Given the description of an element on the screen output the (x, y) to click on. 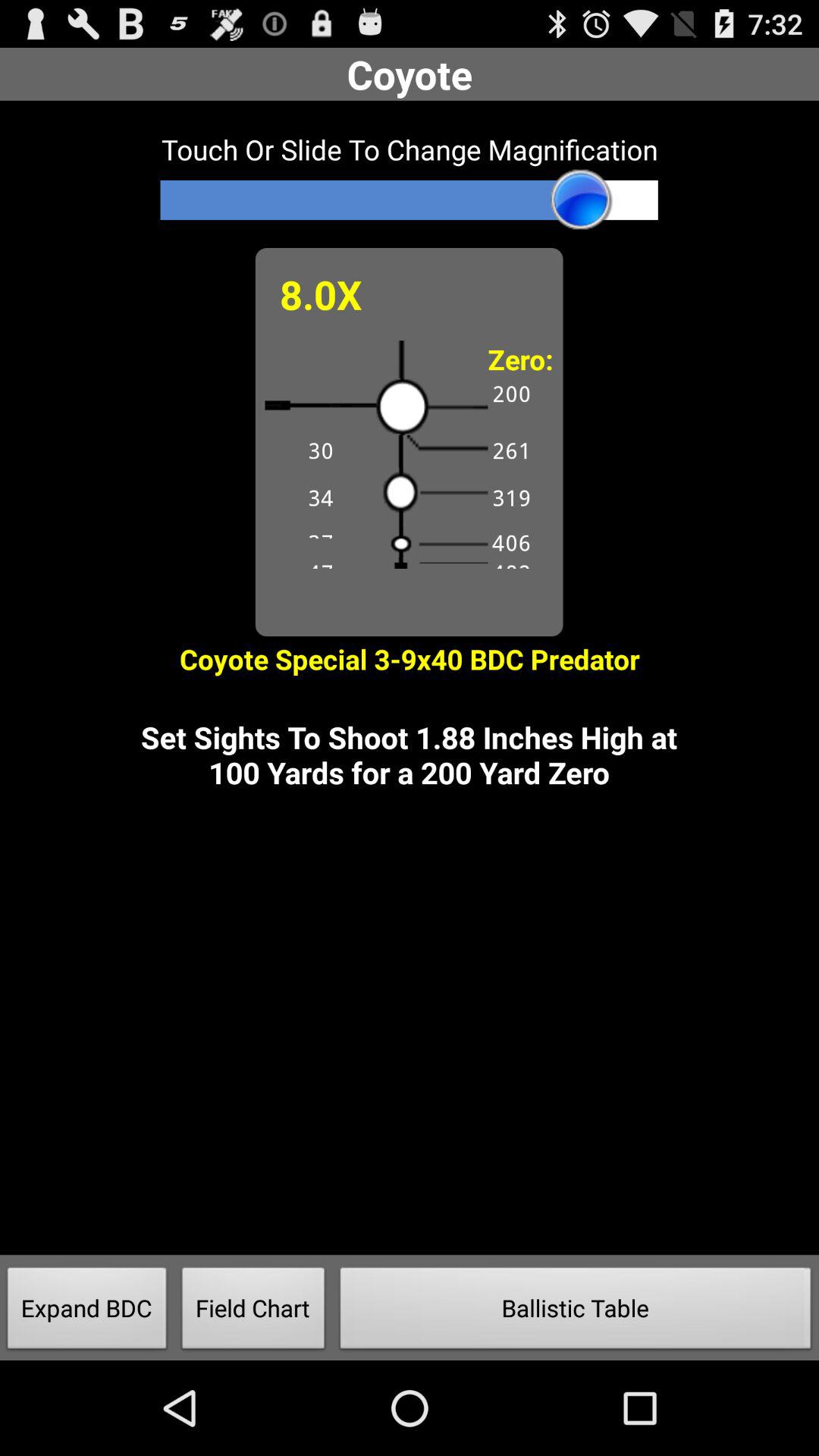
turn off button next to the expand bdc icon (253, 1312)
